Given the description of an element on the screen output the (x, y) to click on. 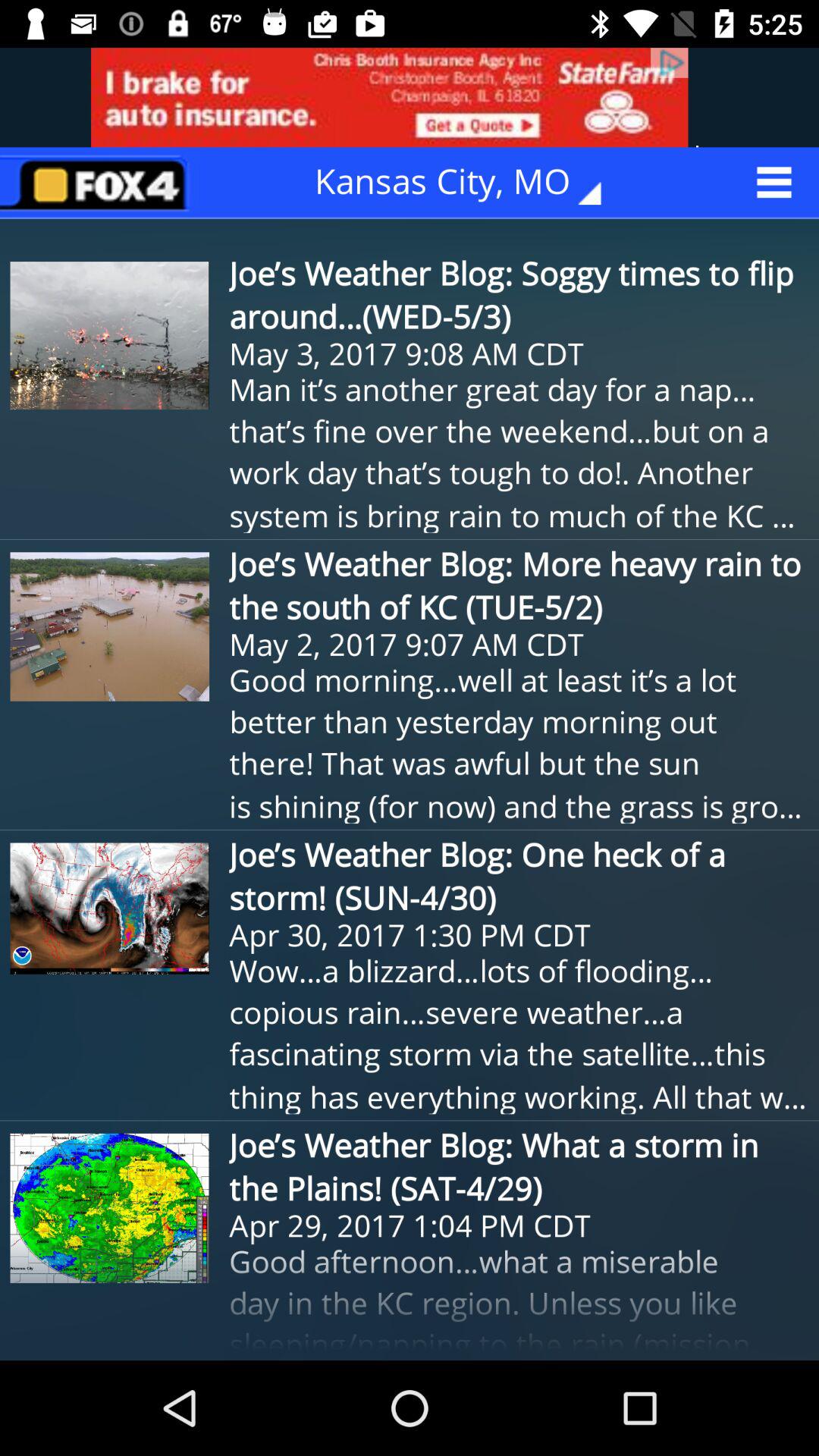
launch the icon to the left of kansas city, mo item (99, 182)
